Given the description of an element on the screen output the (x, y) to click on. 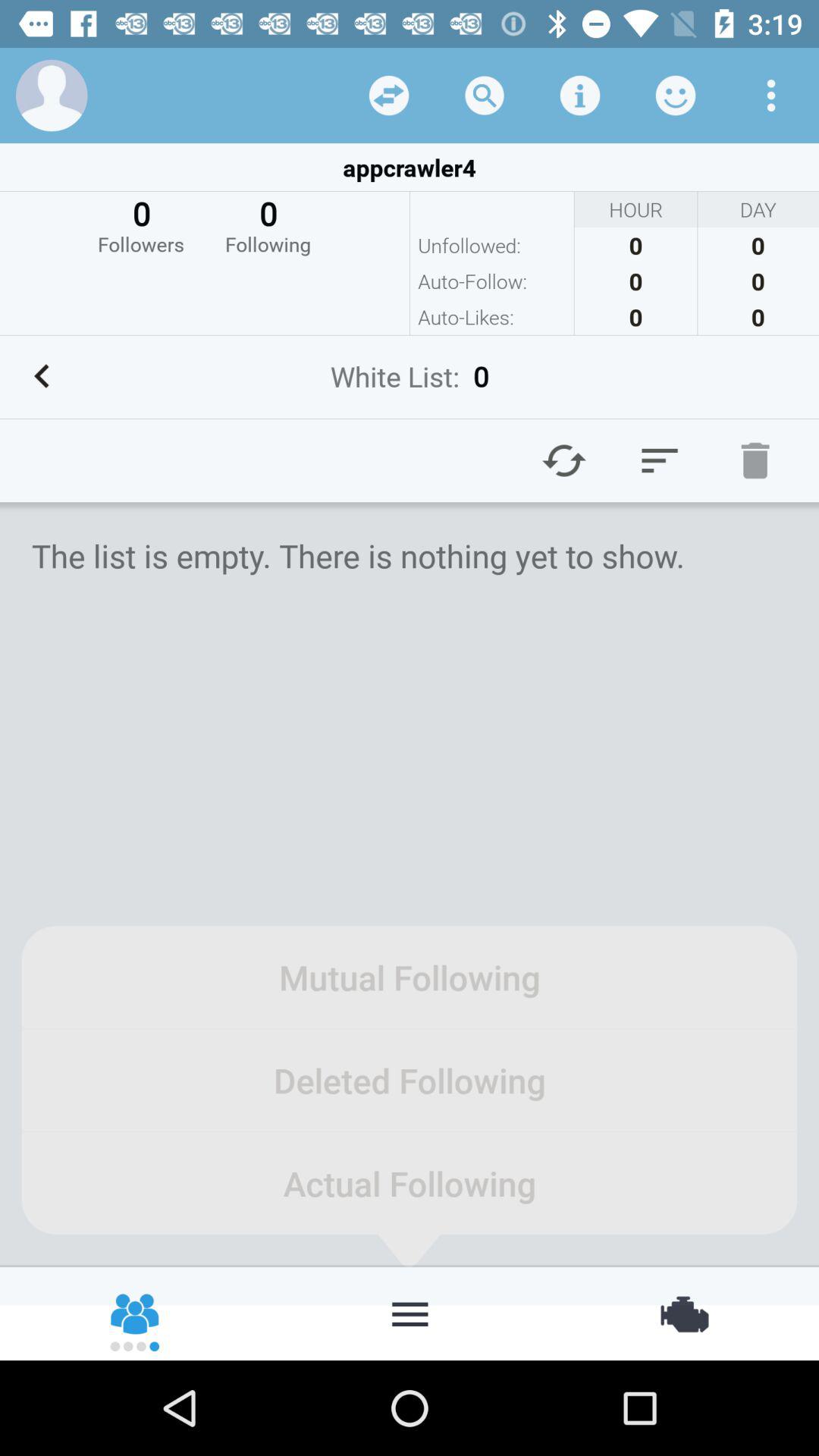
friends of friends (136, 1312)
